Given the description of an element on the screen output the (x, y) to click on. 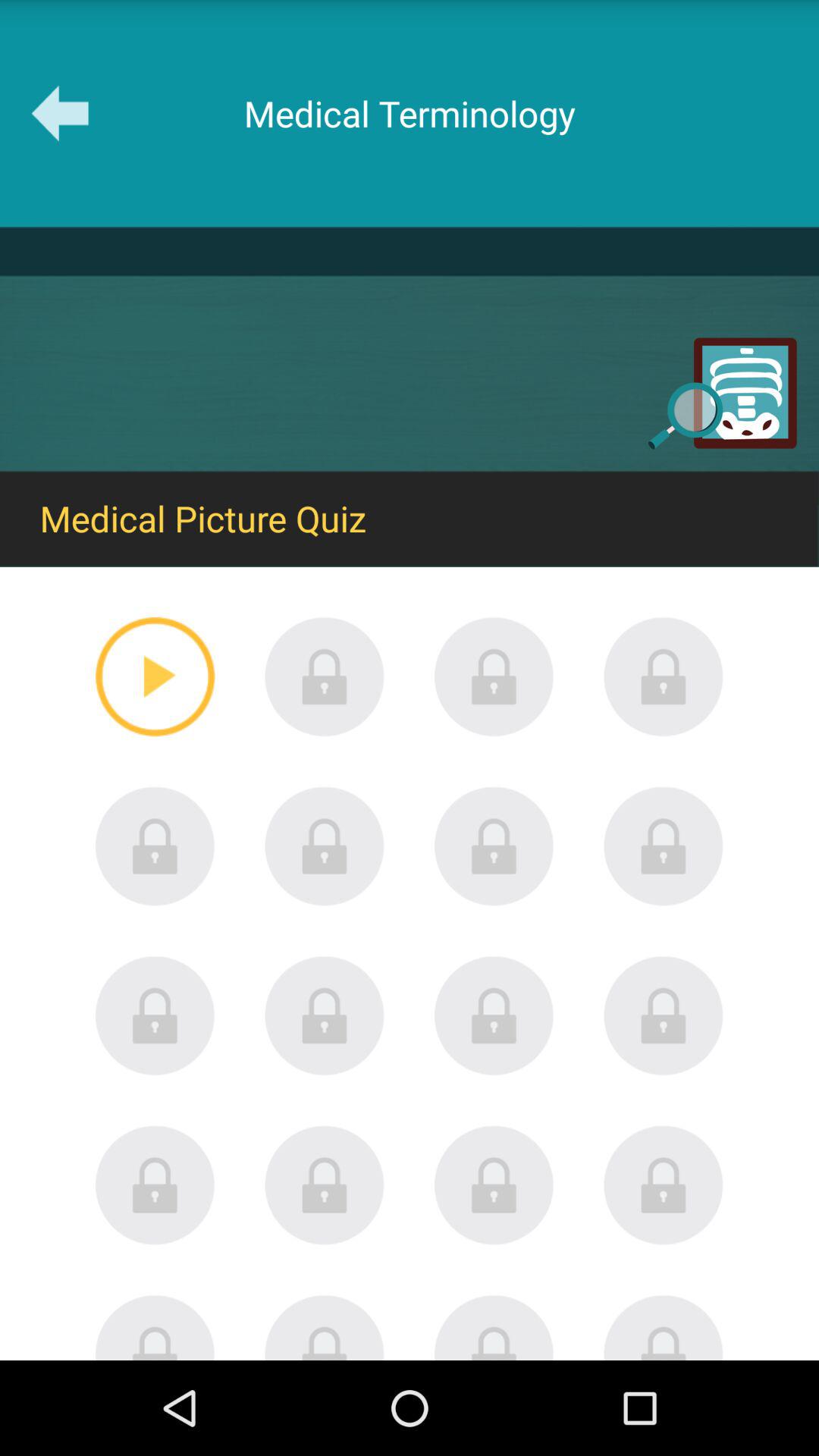
open item (493, 1015)
